Given the description of an element on the screen output the (x, y) to click on. 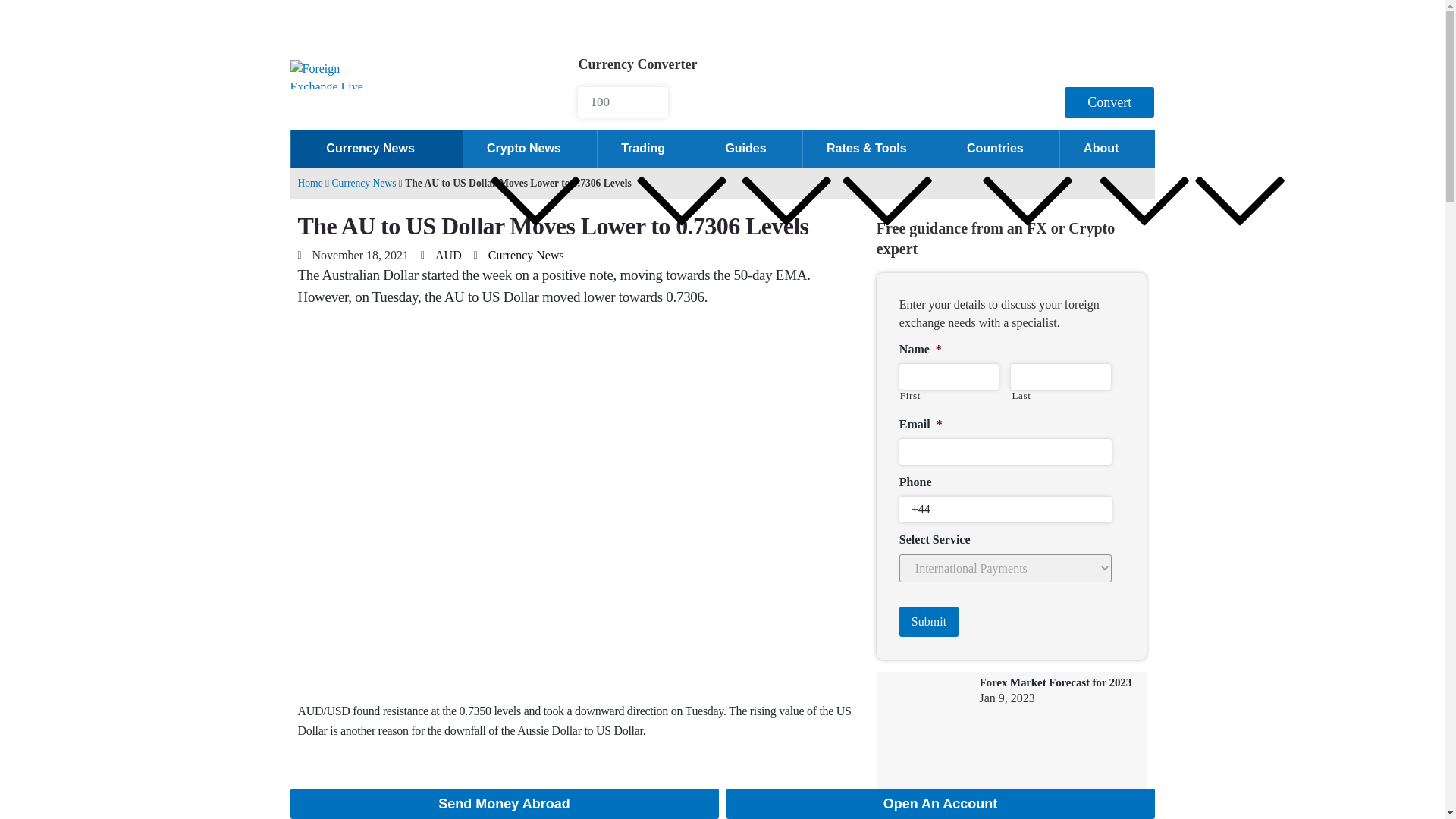
Submit (928, 621)
Currency News (375, 148)
Convert (1109, 101)
foreign-exchange-live-logo (335, 74)
USD-EUR-GBP 2022-currencies-69522 (923, 818)
